Given the description of an element on the screen output the (x, y) to click on. 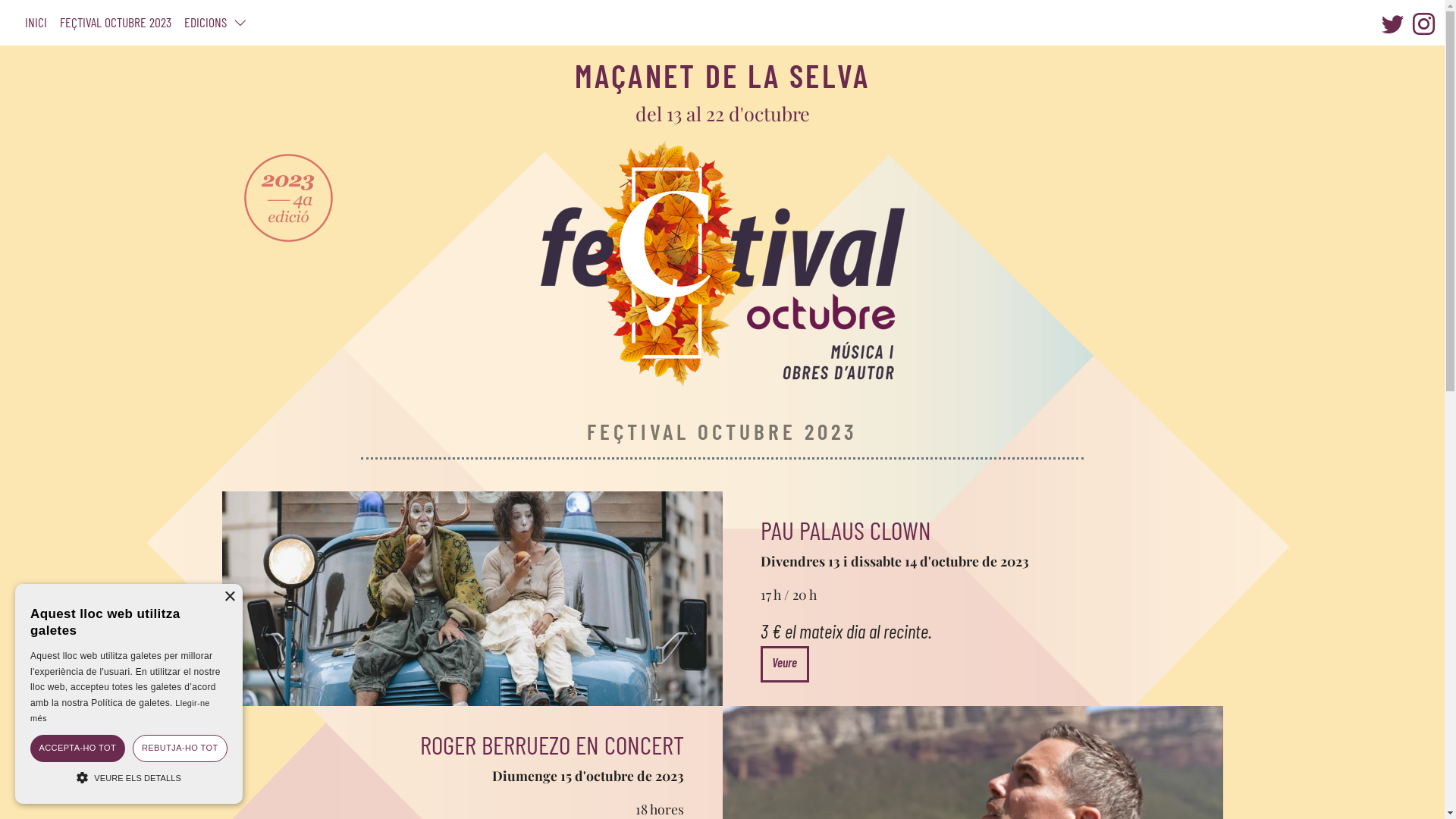
EDICIONS Element type: text (215, 22)
PAU PALAUS CLOWN Element type: text (845, 529)
ROGER BERRUEZO EN CONCERT Element type: text (552, 743)
Veure Element type: text (784, 664)
INICI Element type: text (35, 22)
